Given the description of an element on the screen output the (x, y) to click on. 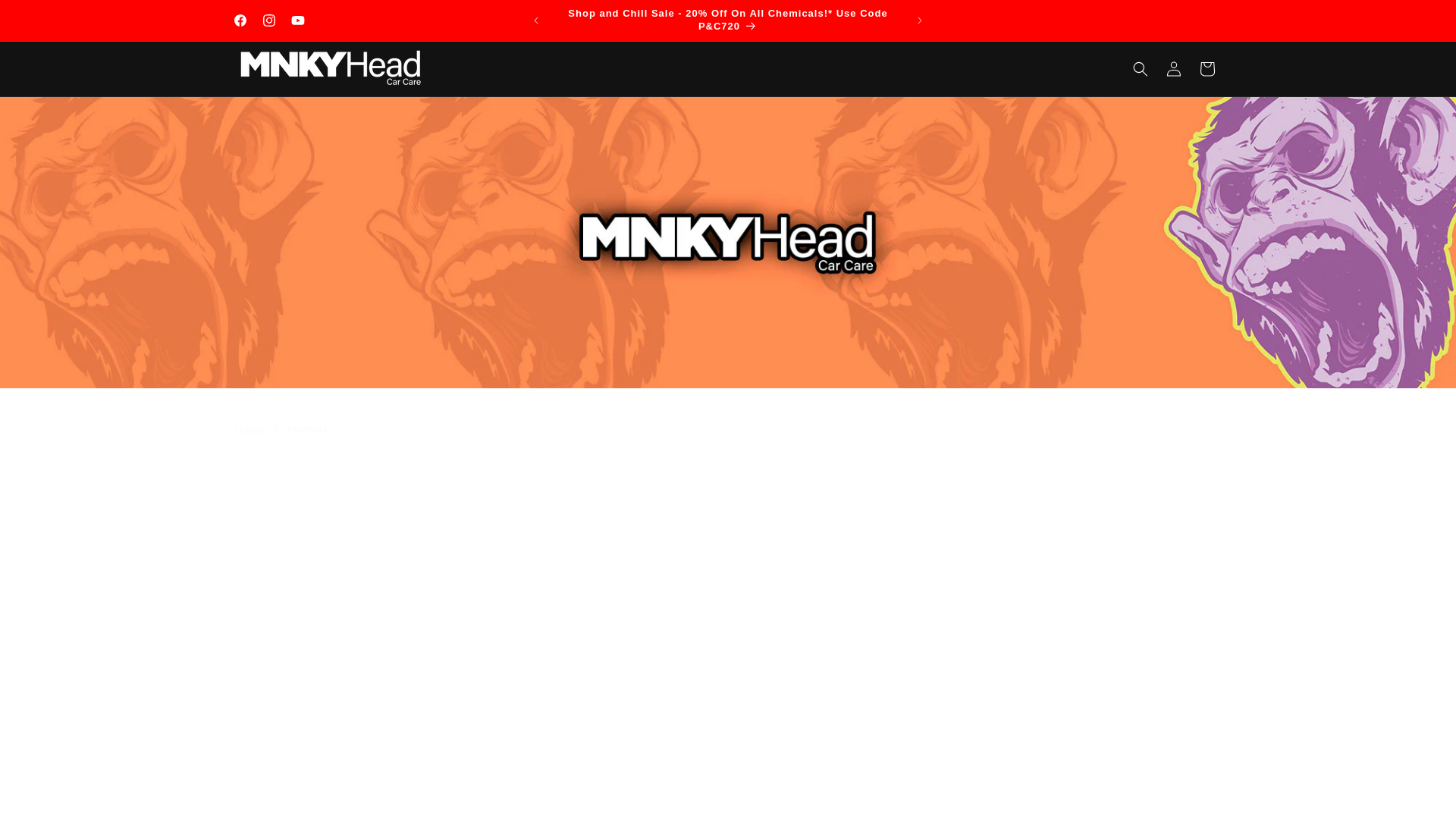
Log in (1174, 68)
Instagram (268, 20)
Skip to content (45, 17)
Home (249, 428)
Facebook (239, 20)
Cart (1207, 68)
YouTube (298, 20)
